Given the description of an element on the screen output the (x, y) to click on. 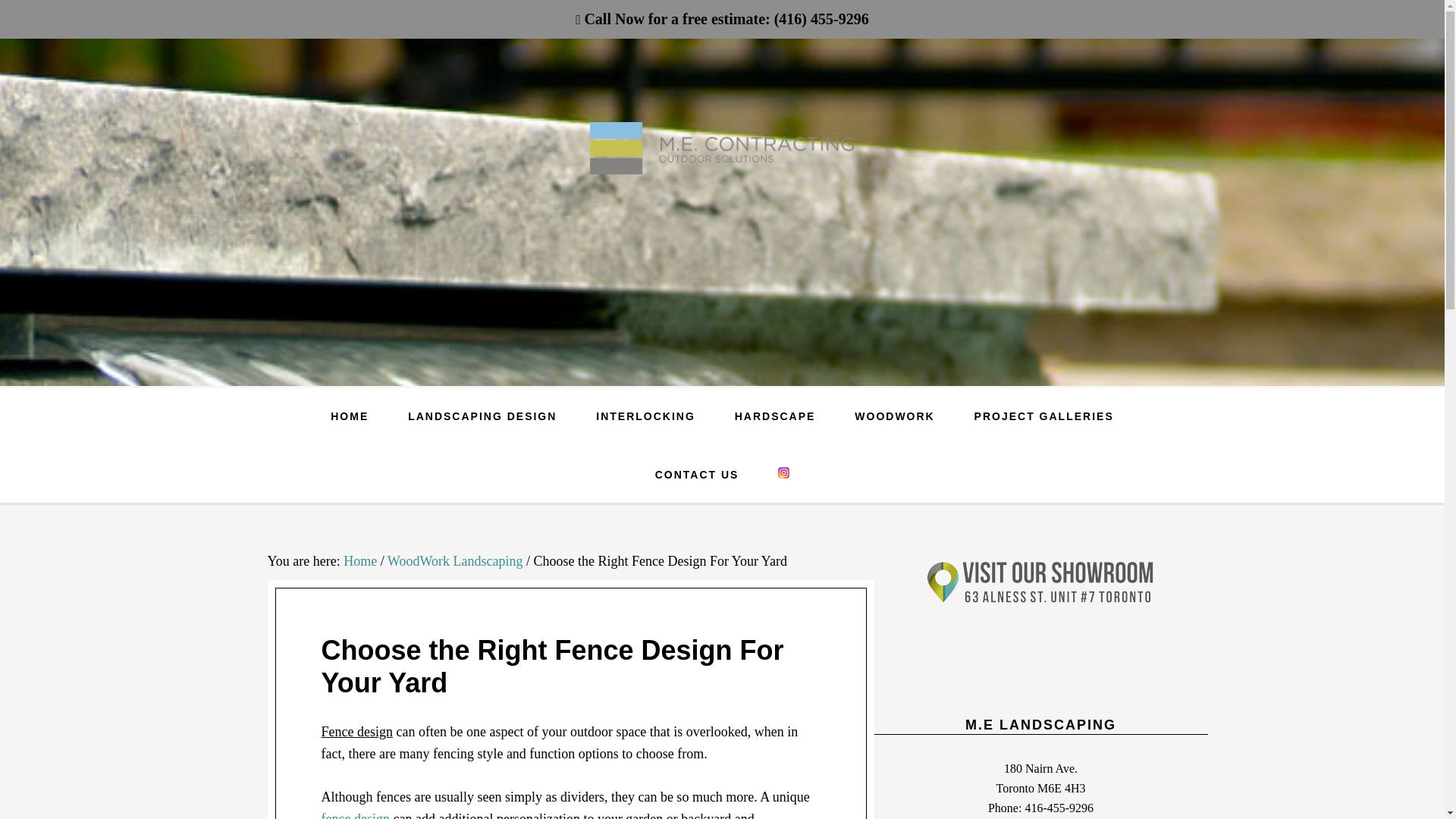
INTERLOCKING (645, 416)
HOME (350, 416)
Home (360, 560)
CONTACT US (697, 474)
HARDSCAPE (775, 416)
PROJECT GALLERIES (1044, 416)
LANDSCAPING DESIGN (482, 416)
WOODWORK (893, 416)
WoodWork Landscaping (454, 560)
